Given the description of an element on the screen output the (x, y) to click on. 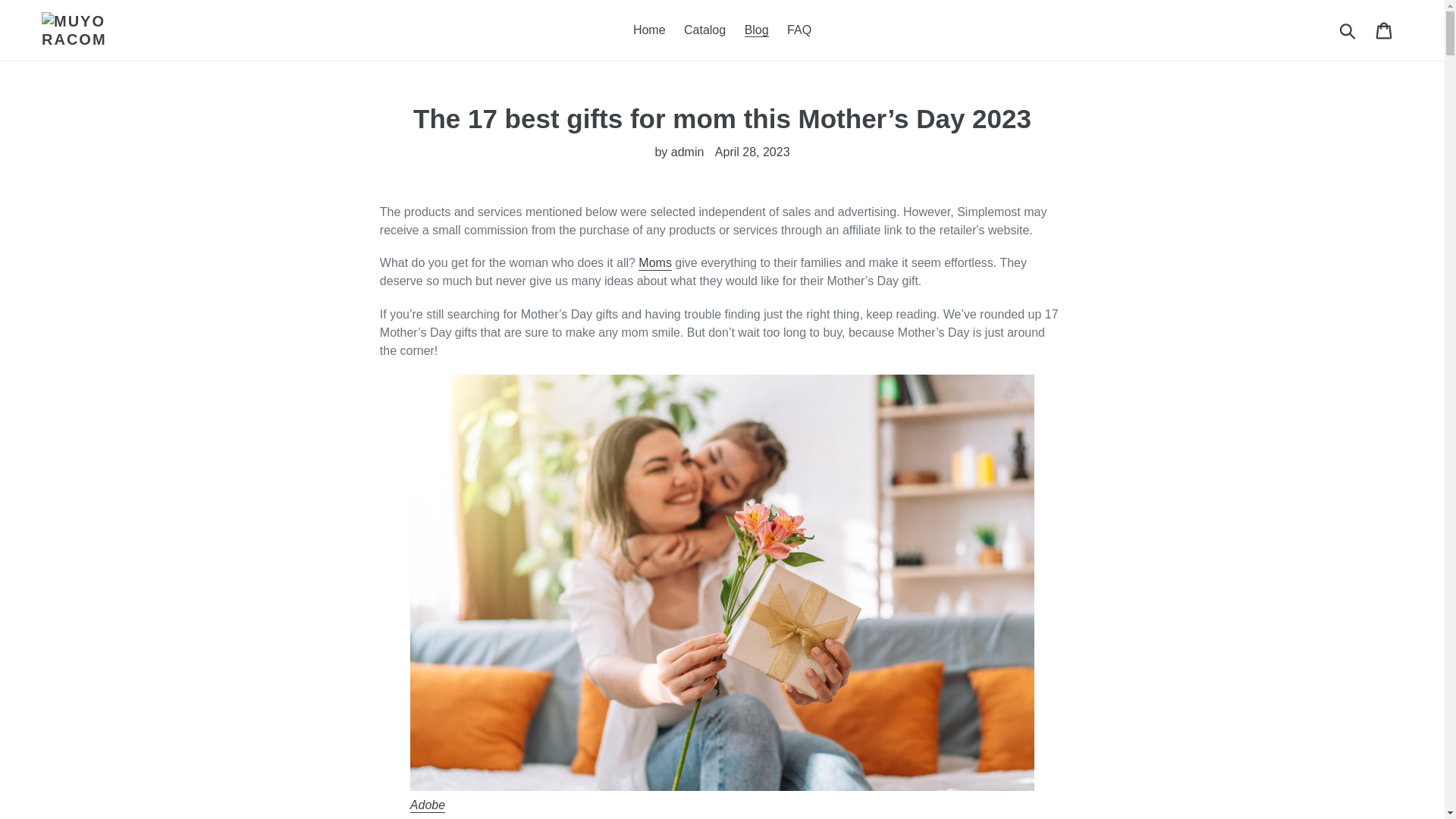
FAQ (798, 29)
Catalog (705, 29)
Home (649, 29)
Submit (1348, 29)
Moms (655, 263)
Blog (756, 29)
Adobe (427, 805)
Cart (1385, 29)
